Given the description of an element on the screen output the (x, y) to click on. 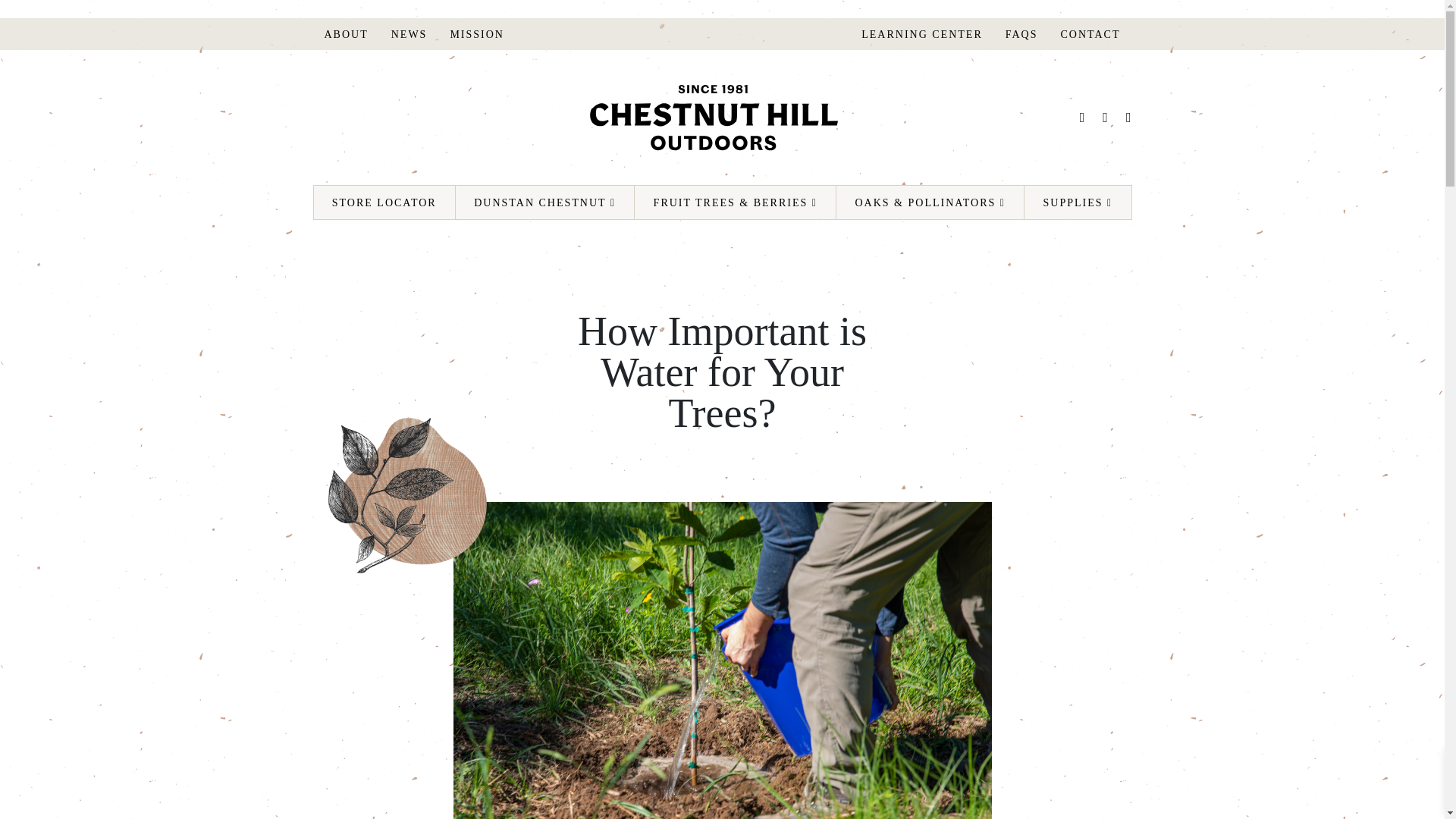
DUNSTAN CHESTNUT (544, 202)
CONTACT (1090, 34)
NEWS (409, 34)
ABOUT (345, 34)
LEARNING CENTER (922, 34)
MISSION (476, 34)
STORE LOCATOR (384, 202)
FAQS (1021, 34)
